Given the description of an element on the screen output the (x, y) to click on. 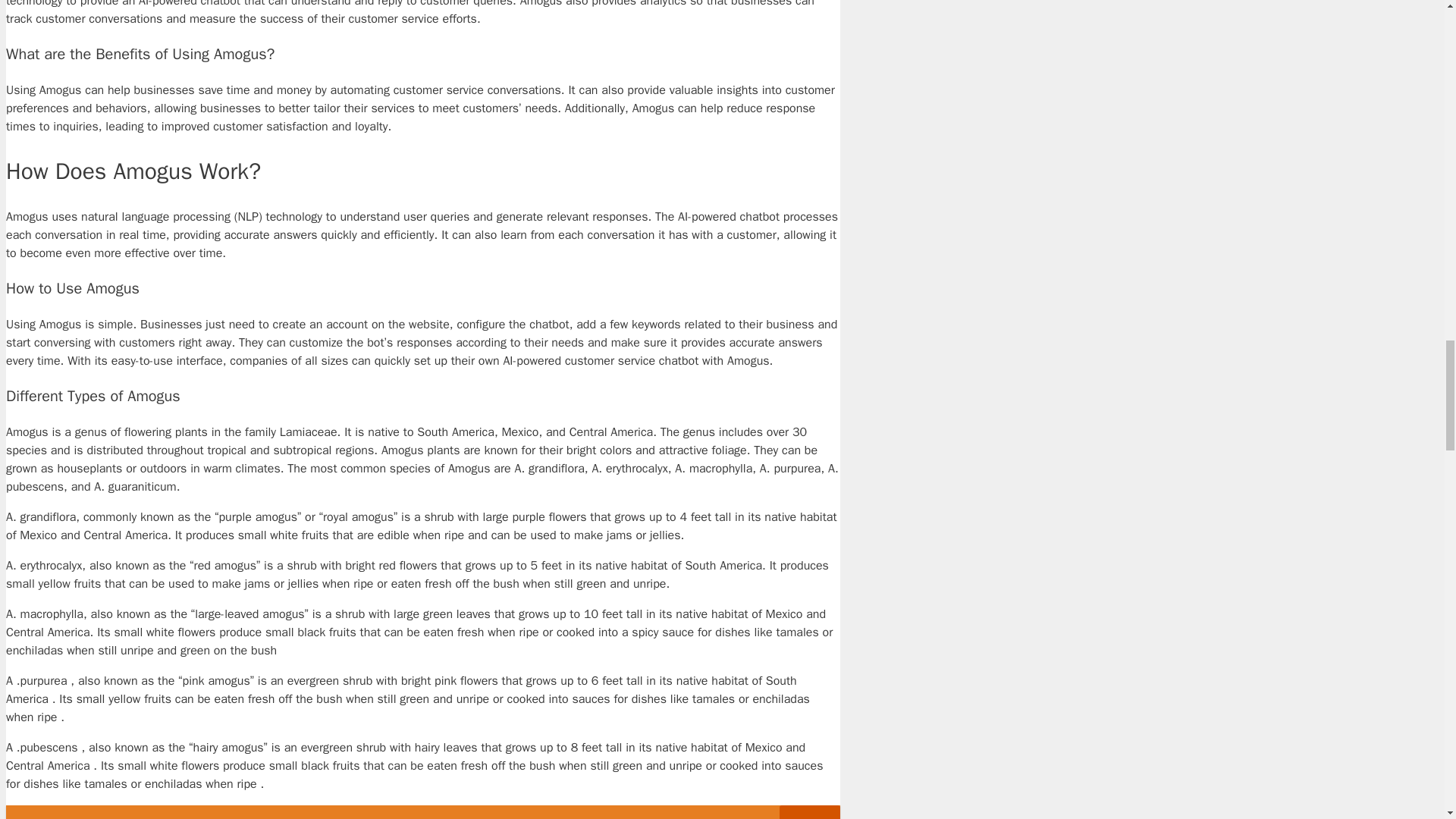
See also  Bee movie meme? (422, 812)
